Given the description of an element on the screen output the (x, y) to click on. 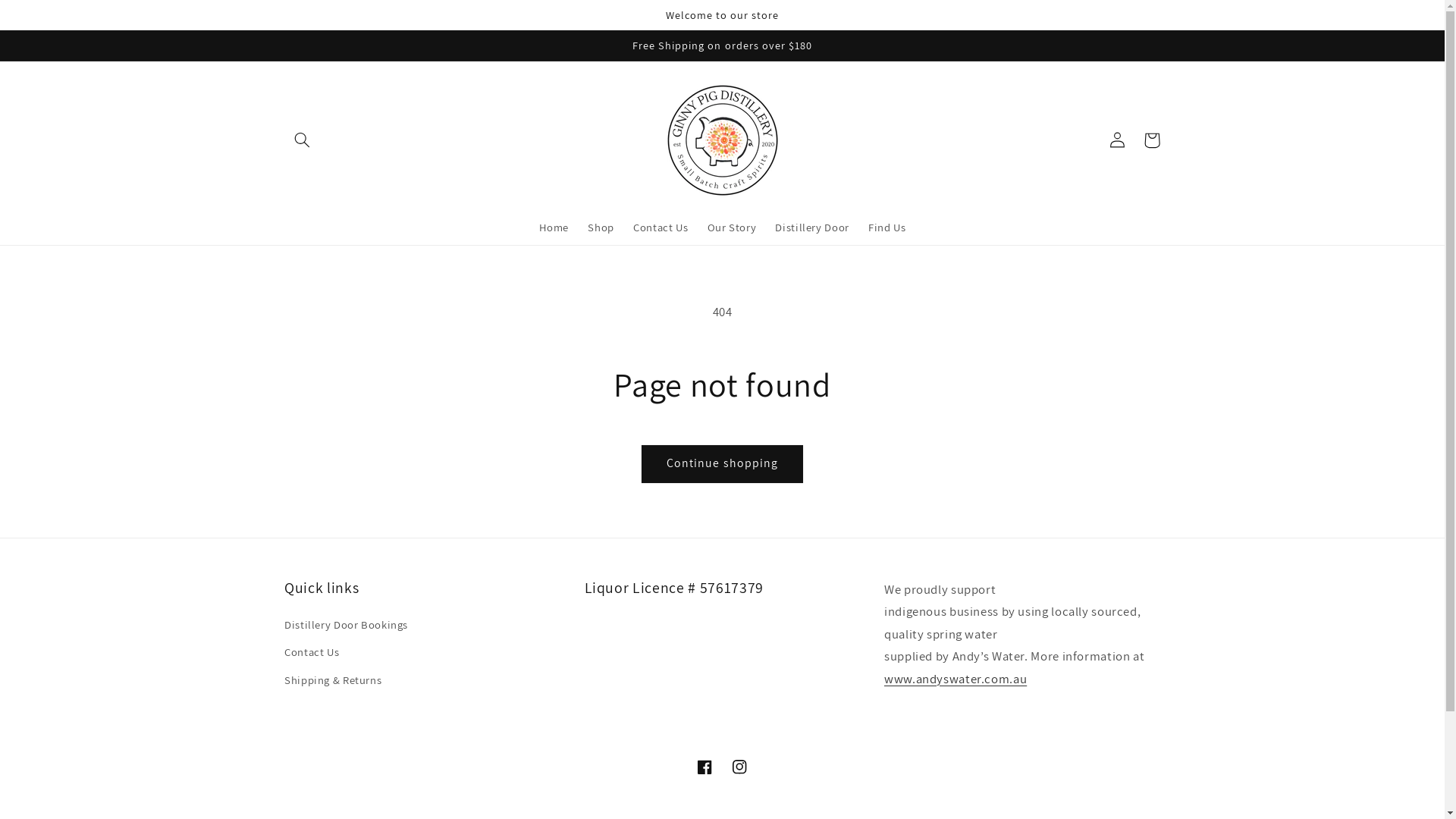
Shop Element type: text (601, 227)
Distillery Door Element type: text (812, 227)
Find Us Element type: text (886, 227)
Shipping & Returns Element type: text (332, 679)
Our Story Element type: text (731, 227)
www.andyswater.com.au Element type: text (955, 678)
Continue shopping Element type: text (722, 463)
Home Element type: text (553, 227)
Log in Element type: text (1116, 139)
Contact Us Element type: text (311, 651)
Contact Us Element type: text (660, 227)
Instagram Element type: text (738, 766)
Facebook Element type: text (704, 766)
Distillery Door Bookings Element type: text (345, 626)
Cart Element type: text (1151, 139)
